Given the description of an element on the screen output the (x, y) to click on. 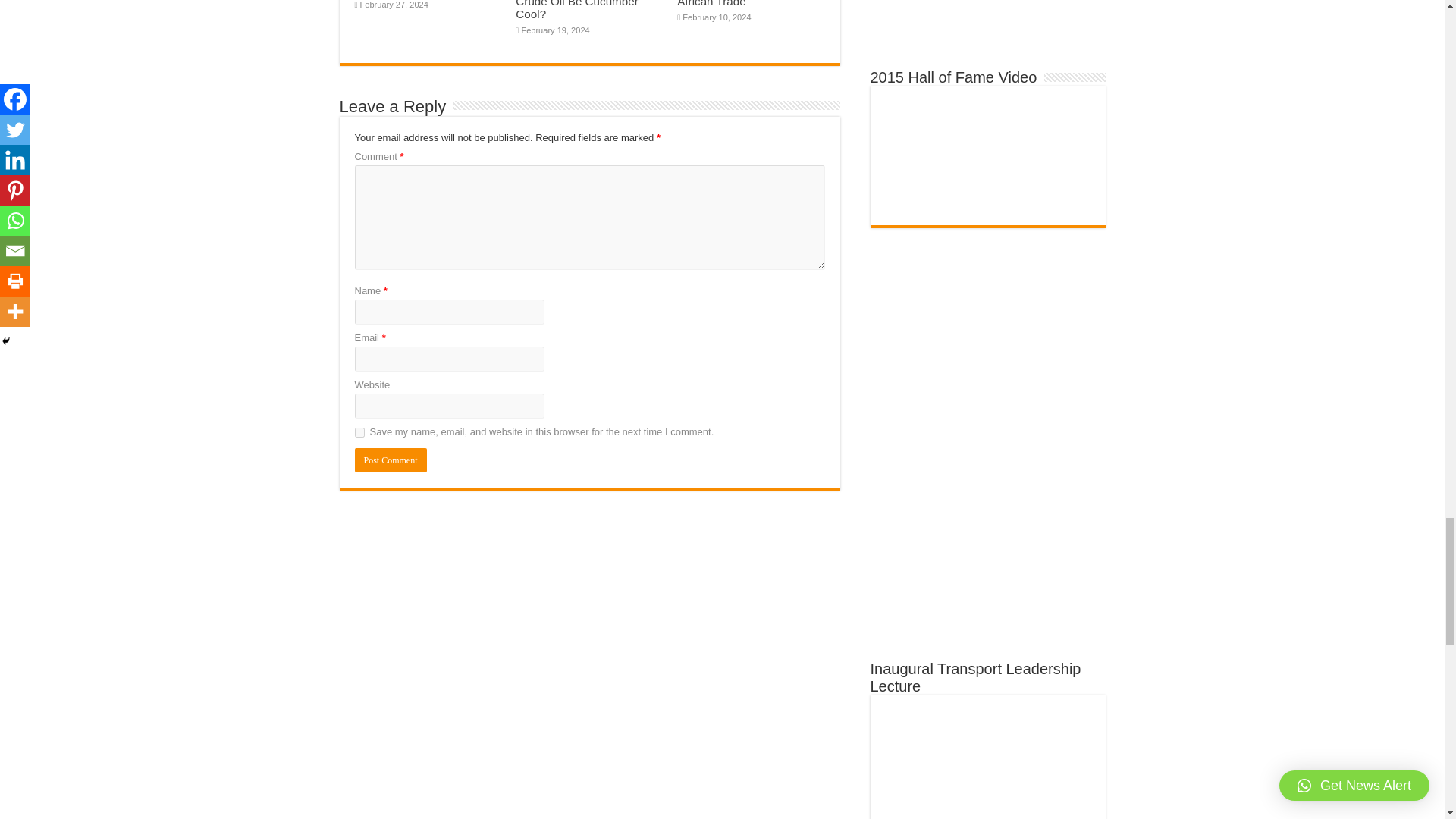
Post Comment (390, 459)
yes (360, 432)
